Given the description of an element on the screen output the (x, y) to click on. 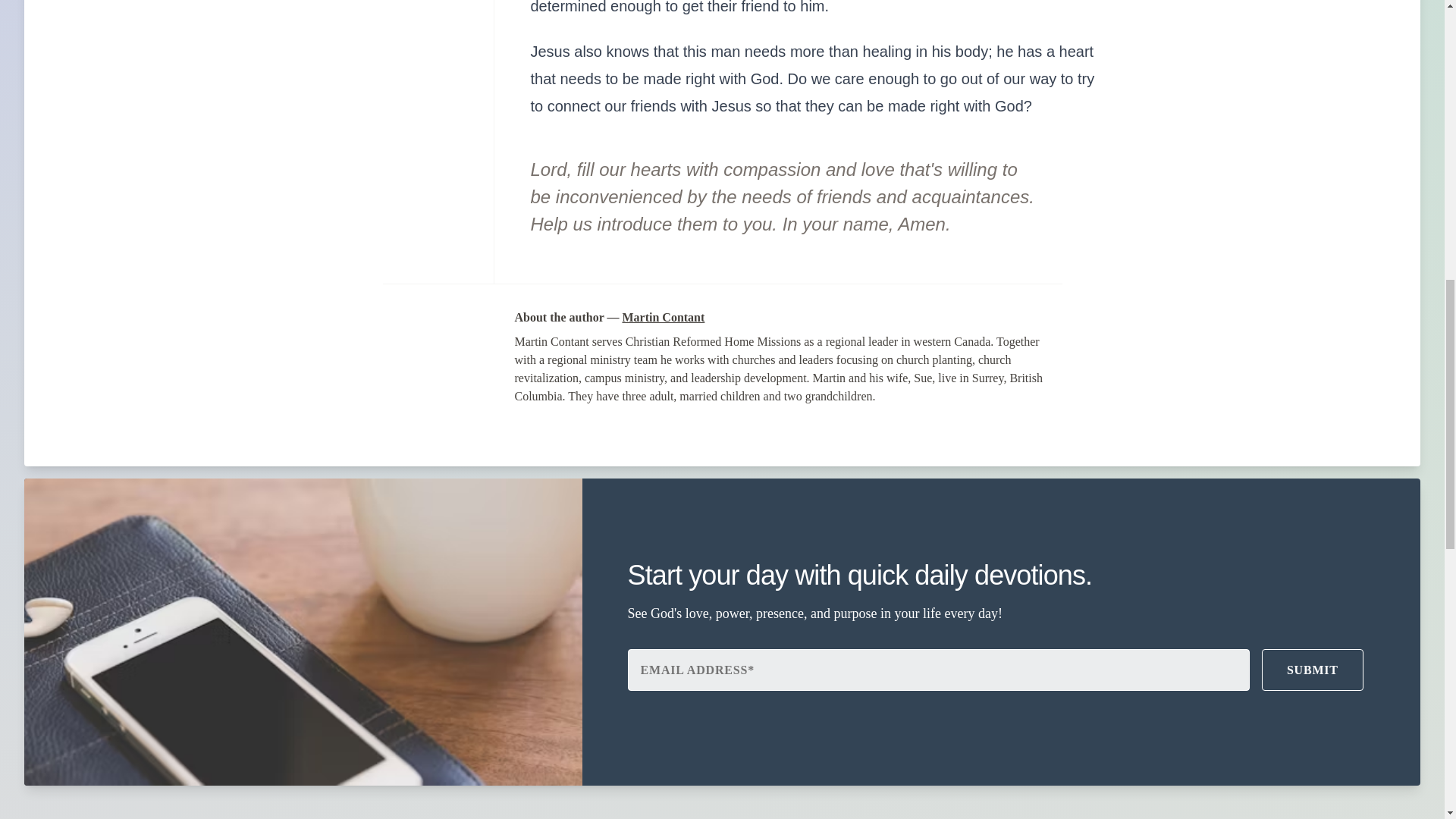
Submit (1312, 670)
Submit (1312, 670)
Martin Contant (662, 317)
